Given the description of an element on the screen output the (x, y) to click on. 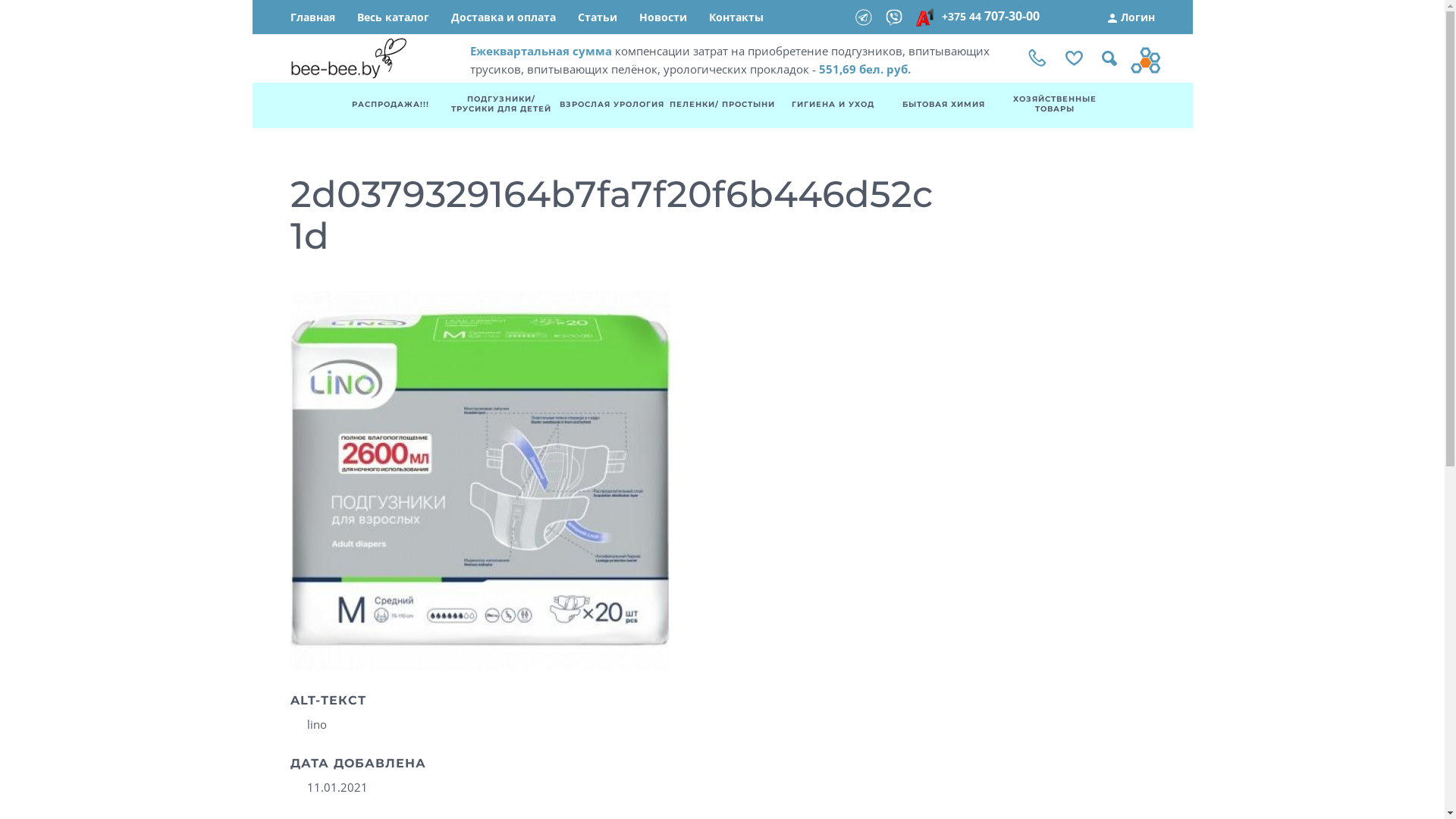
+375 44 707-30-00 Element type: text (988, 16)
